Given the description of an element on the screen output the (x, y) to click on. 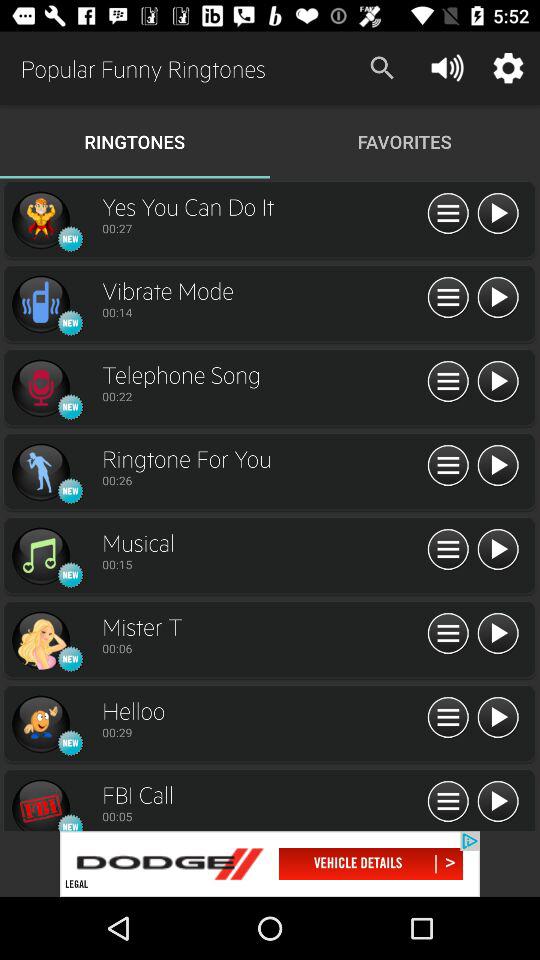
play list option (447, 465)
